Given the description of an element on the screen output the (x, y) to click on. 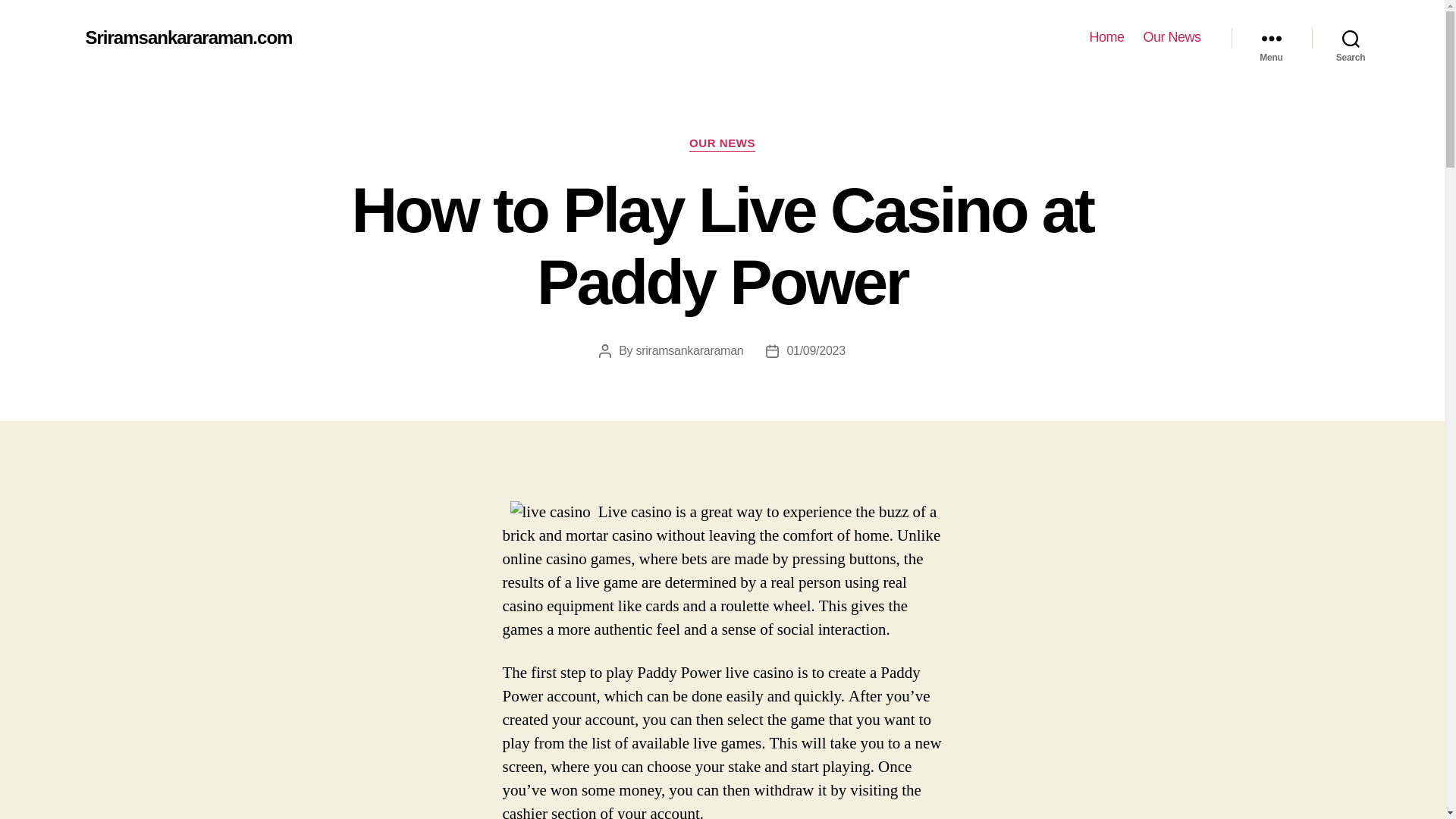
Our News (1170, 37)
Menu (1271, 37)
OUR NEWS (721, 143)
sriramsankararaman (690, 350)
Search (1350, 37)
Sriramsankararaman.com (188, 37)
Home (1106, 37)
